Given the description of an element on the screen output the (x, y) to click on. 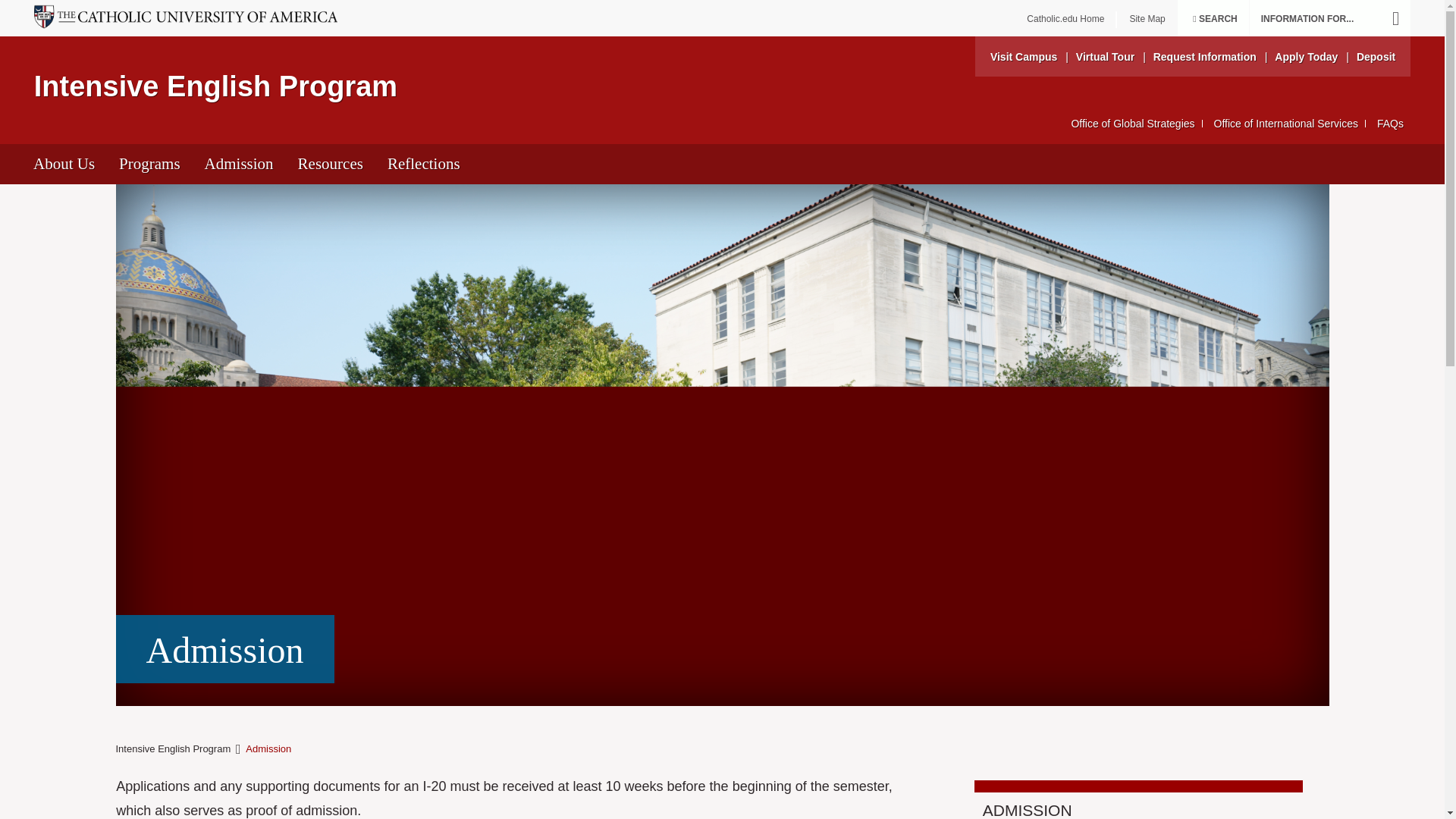
Intensive English Program (215, 86)
Site Map (1147, 19)
Apply Today (1306, 56)
INFORMATION FOR... (1329, 18)
SEARCH (1213, 19)
Visit Campus (1023, 56)
Office of International Services (1286, 123)
The Catholic University of America (1065, 19)
Virtual Tour (1104, 56)
Catholic.edu Home (1065, 19)
